Given the description of an element on the screen output the (x, y) to click on. 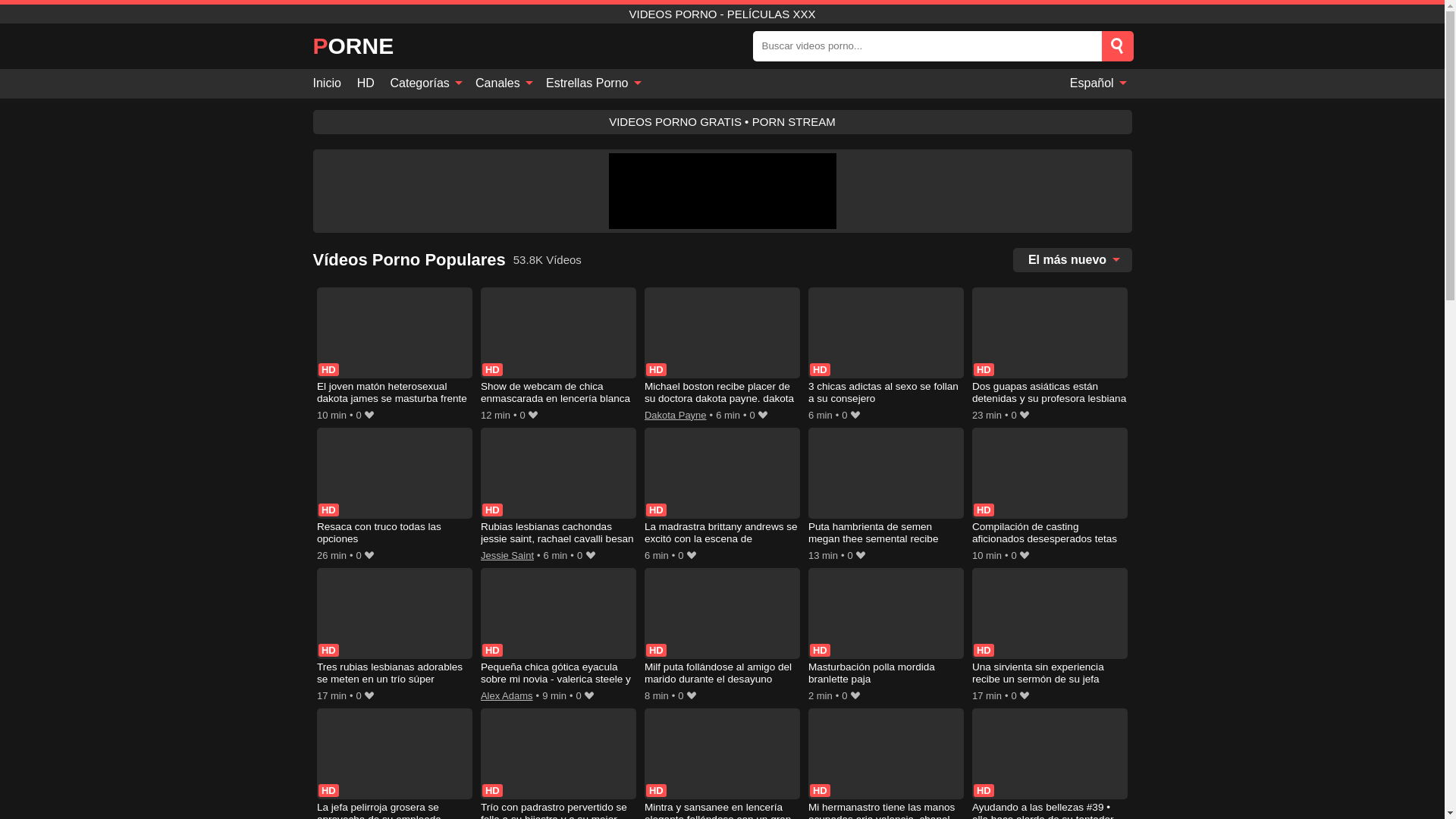
Estrellas Porno (592, 83)
Canales (502, 83)
PORNE (353, 45)
Inicio (331, 83)
HD (365, 83)
HD (365, 83)
Canales (502, 83)
Inicio (331, 83)
Search (1116, 46)
